Given the description of an element on the screen output the (x, y) to click on. 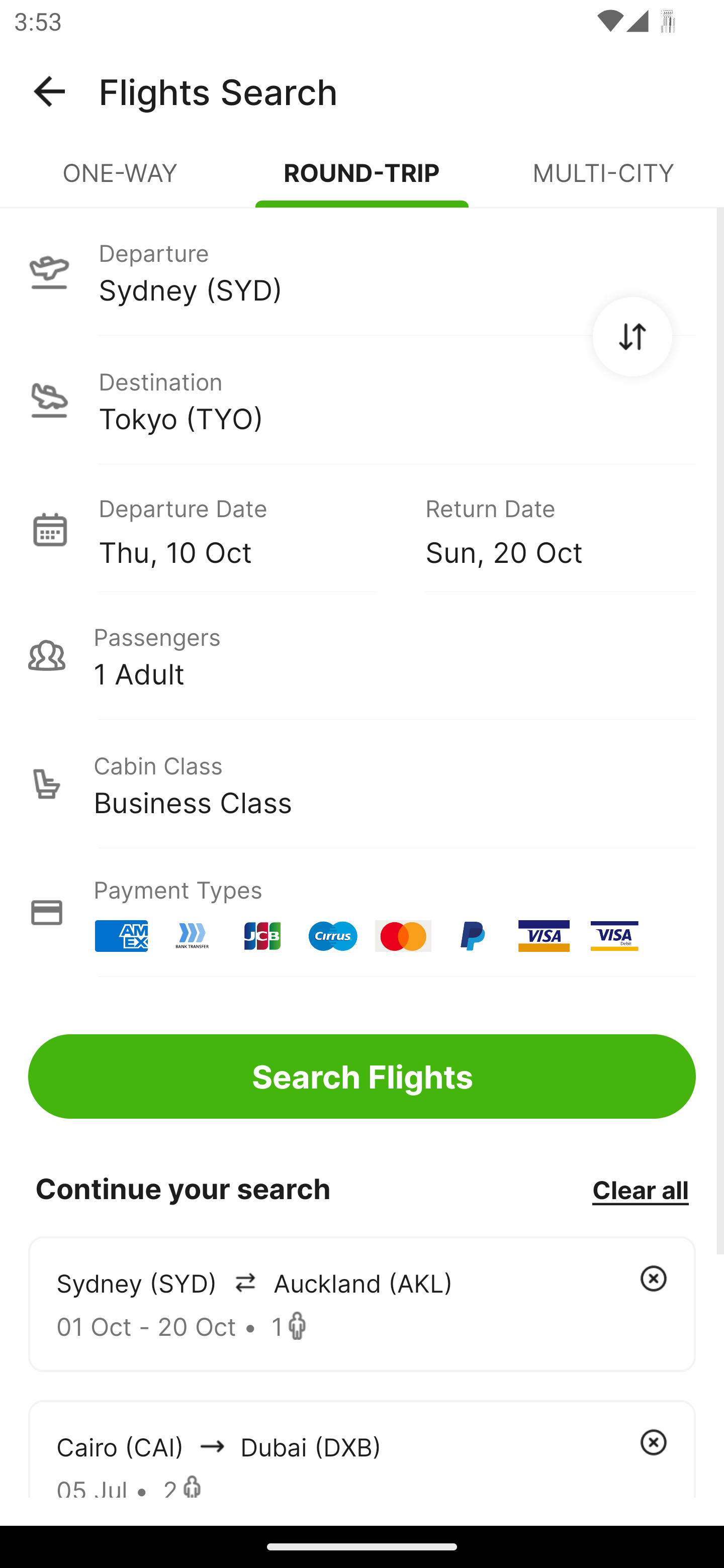
ONE-WAY (120, 180)
ROUND-TRIP (361, 180)
MULTI-CITY (603, 180)
Departure Sydney (SYD) (362, 270)
Destination Tokyo (TYO) (362, 400)
Departure Date Thu, 10 Oct (247, 528)
Return Date Sun, 20 Oct (546, 528)
Passengers 1 Adult (362, 655)
Cabin Class Business Class (362, 783)
Payment Types (362, 912)
Search Flights (361, 1075)
Clear all (640, 1189)
Cairo (CAI)  arrowIcon  Dubai (DXB) 05 Jul •  2  (361, 1448)
